Given the description of an element on the screen output the (x, y) to click on. 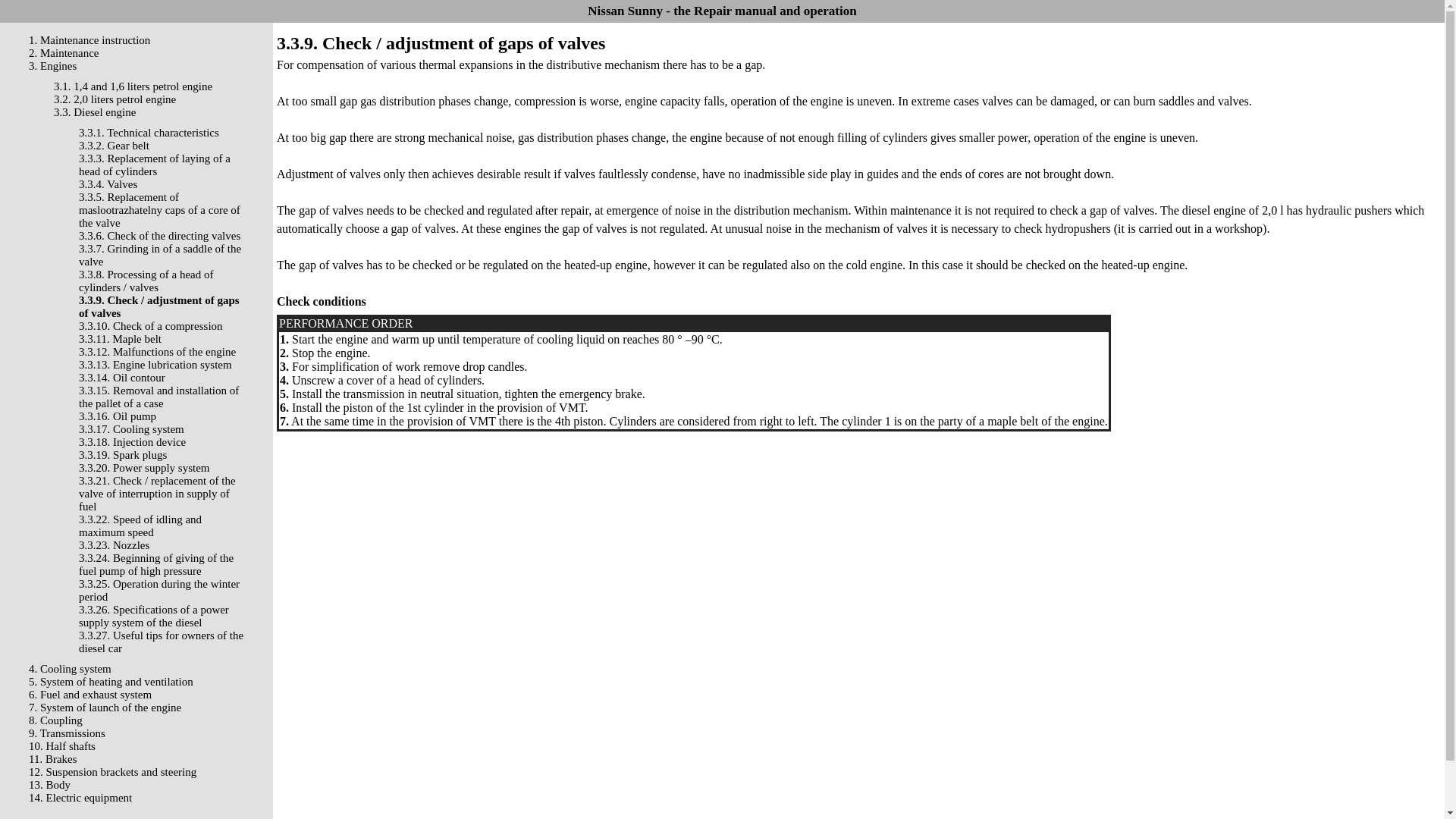
3.3.12. Malfunctions of the engine (156, 351)
2. Maintenance (64, 52)
9. Transmissions (66, 733)
3.3.22. Speed of idling and maximum speed (140, 525)
7. System of launch of the engine (104, 707)
3.3.19. Spark plugs (122, 454)
3.3.27. Useful tips for owners of the diesel car (160, 641)
3.2. 2,0 liters petrol engine (114, 99)
3.3.1. Technical characteristics (148, 132)
3.3.7. Grinding in of a saddle of the valve (159, 254)
5. System of heating and ventilation (111, 681)
3.3.14. Oil contour (121, 377)
3.3.17. Cooling system (131, 428)
